Given the description of an element on the screen output the (x, y) to click on. 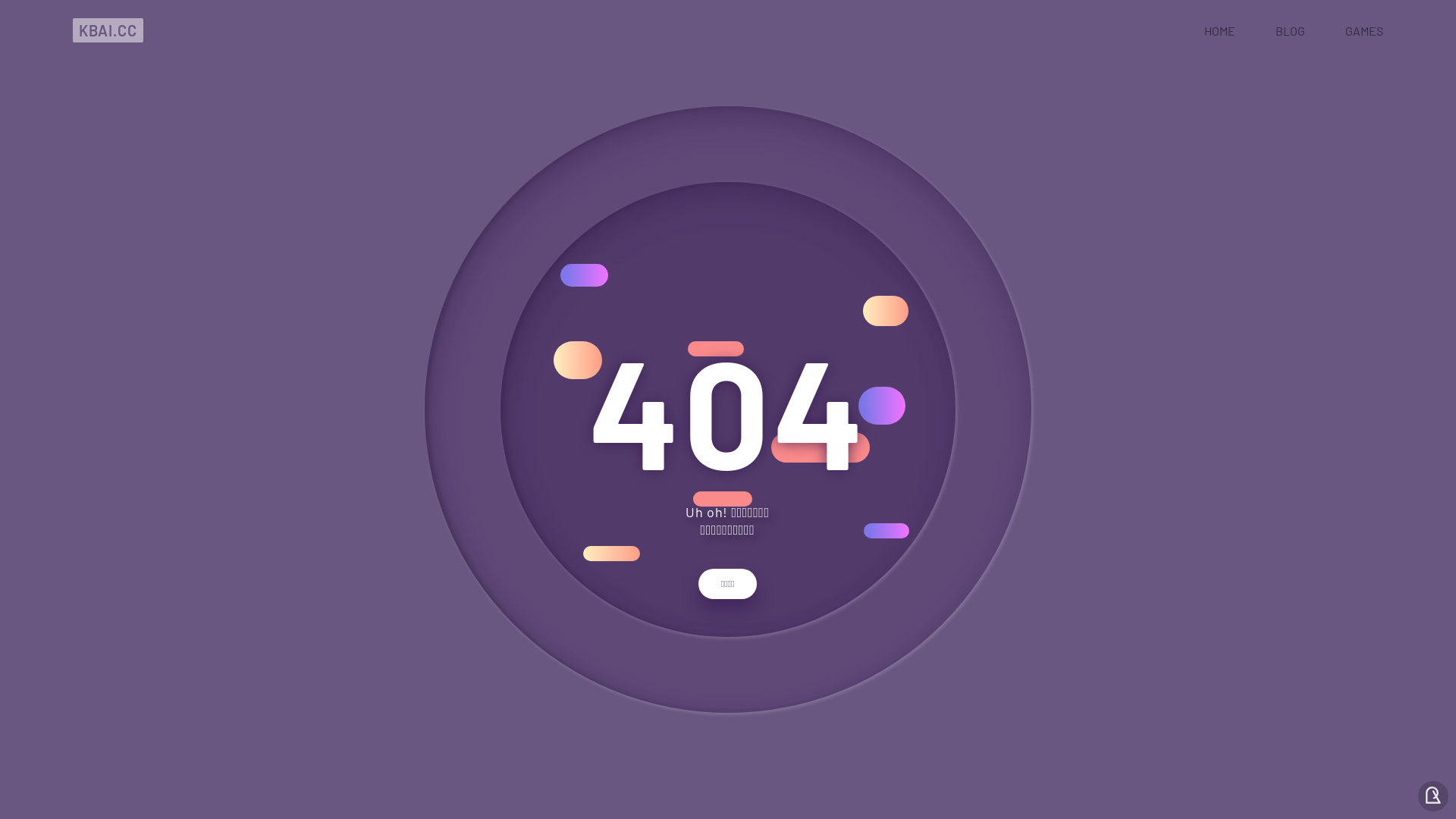
KBAI.CC Element type: text (107, 30)
HOME Element type: text (1219, 29)
GAMES Element type: text (1364, 29)
BLOG Element type: text (1290, 29)
